Given the description of an element on the screen output the (x, y) to click on. 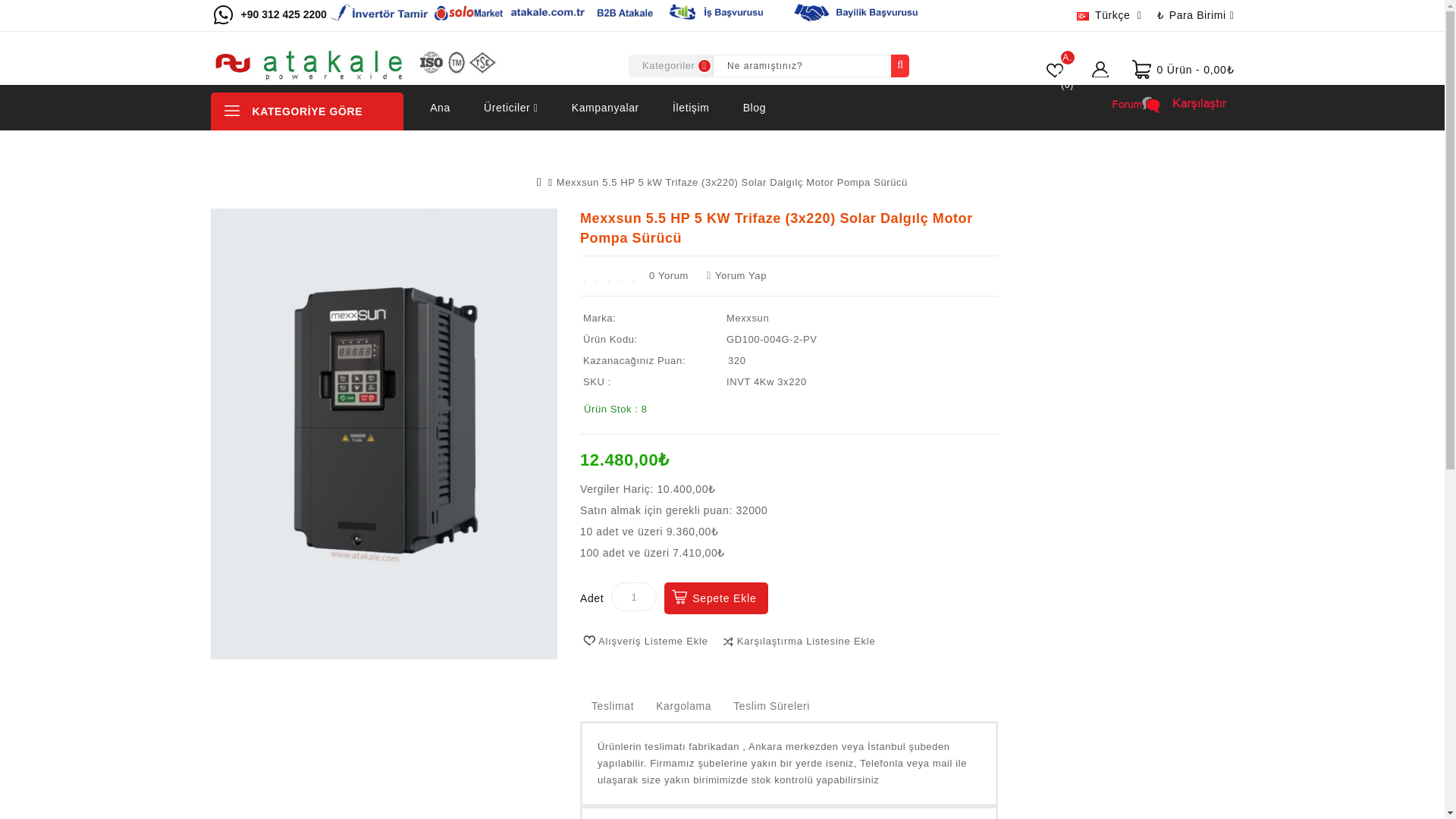
1 (633, 596)
Atakale Solar Enerji (358, 65)
